Given the description of an element on the screen output the (x, y) to click on. 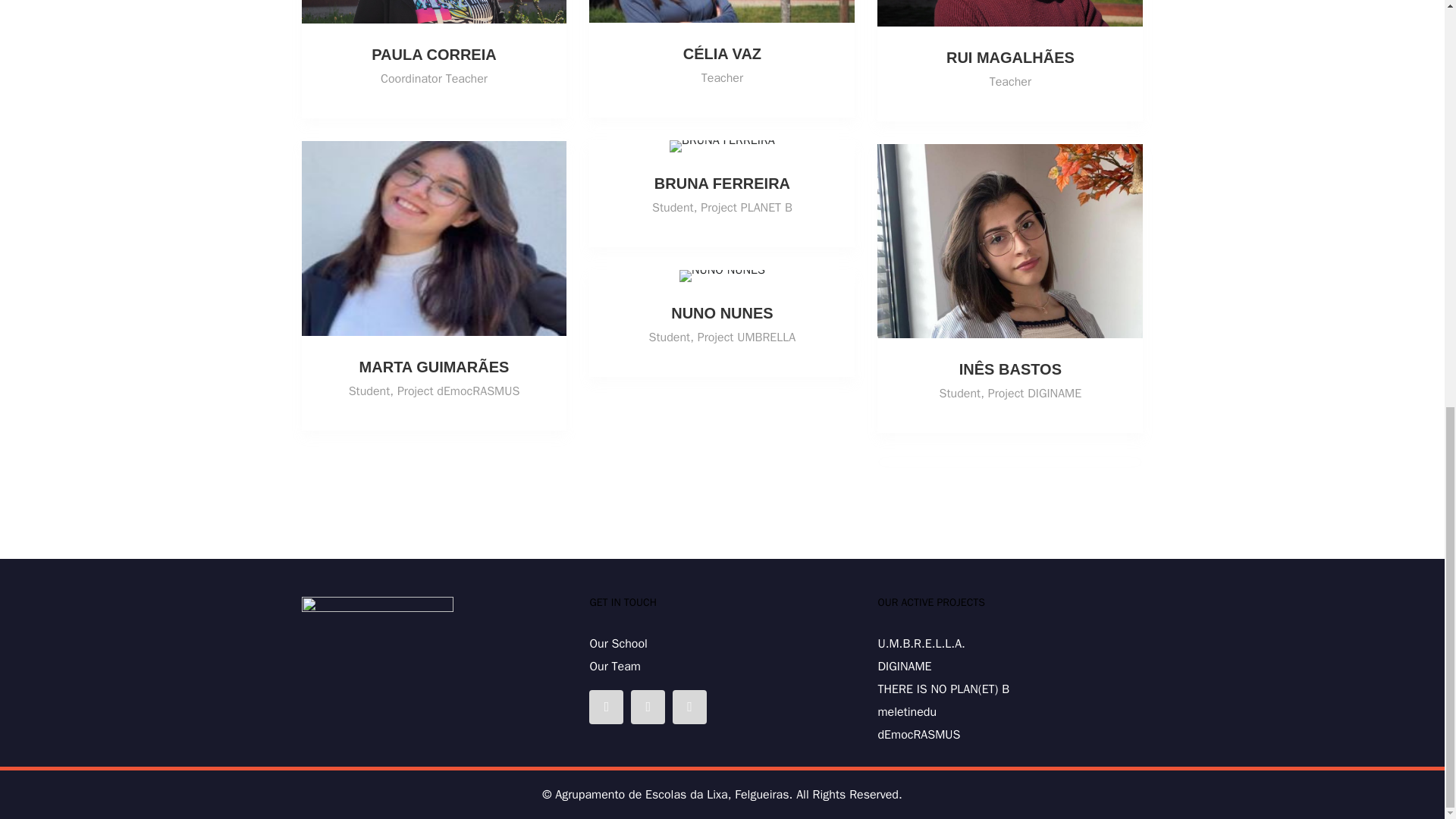
meletinedu (906, 711)
dEmocRASMUS (918, 734)
DIGINAME (904, 666)
Our School (617, 643)
U.M.B.R.E.L.L.A. (920, 643)
Our Team (614, 666)
